Given the description of an element on the screen output the (x, y) to click on. 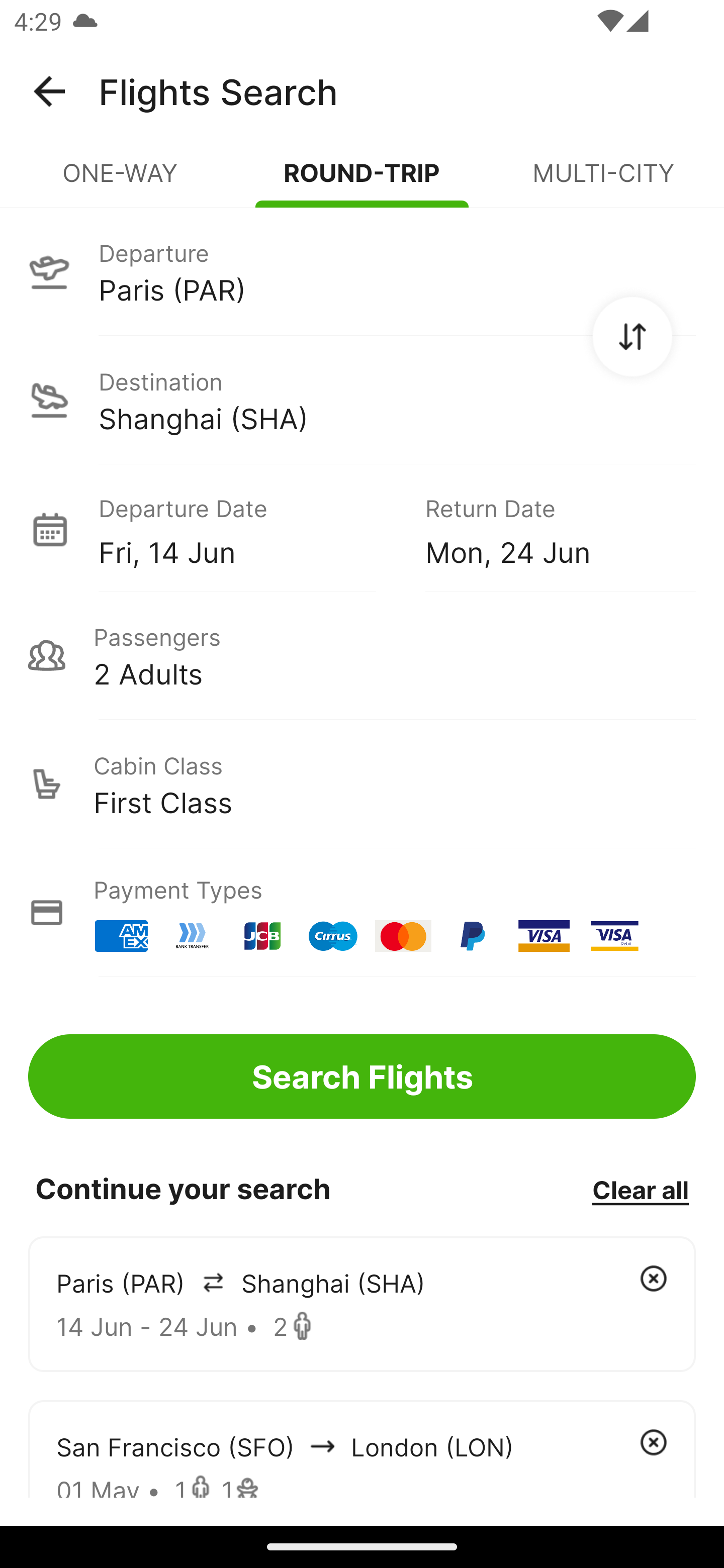
ONE-WAY (120, 180)
ROUND-TRIP (361, 180)
MULTI-CITY (603, 180)
Departure Paris (PAR) (362, 270)
Destination Shanghai (SHA) (362, 400)
Departure Date Fri, 14 Jun (247, 528)
Return Date Mon, 24 Jun (546, 528)
Passengers 2 Adults (362, 655)
Cabin Class First Class (362, 783)
Payment Types (362, 912)
Search Flights (361, 1075)
Clear all (640, 1189)
